Given the description of an element on the screen output the (x, y) to click on. 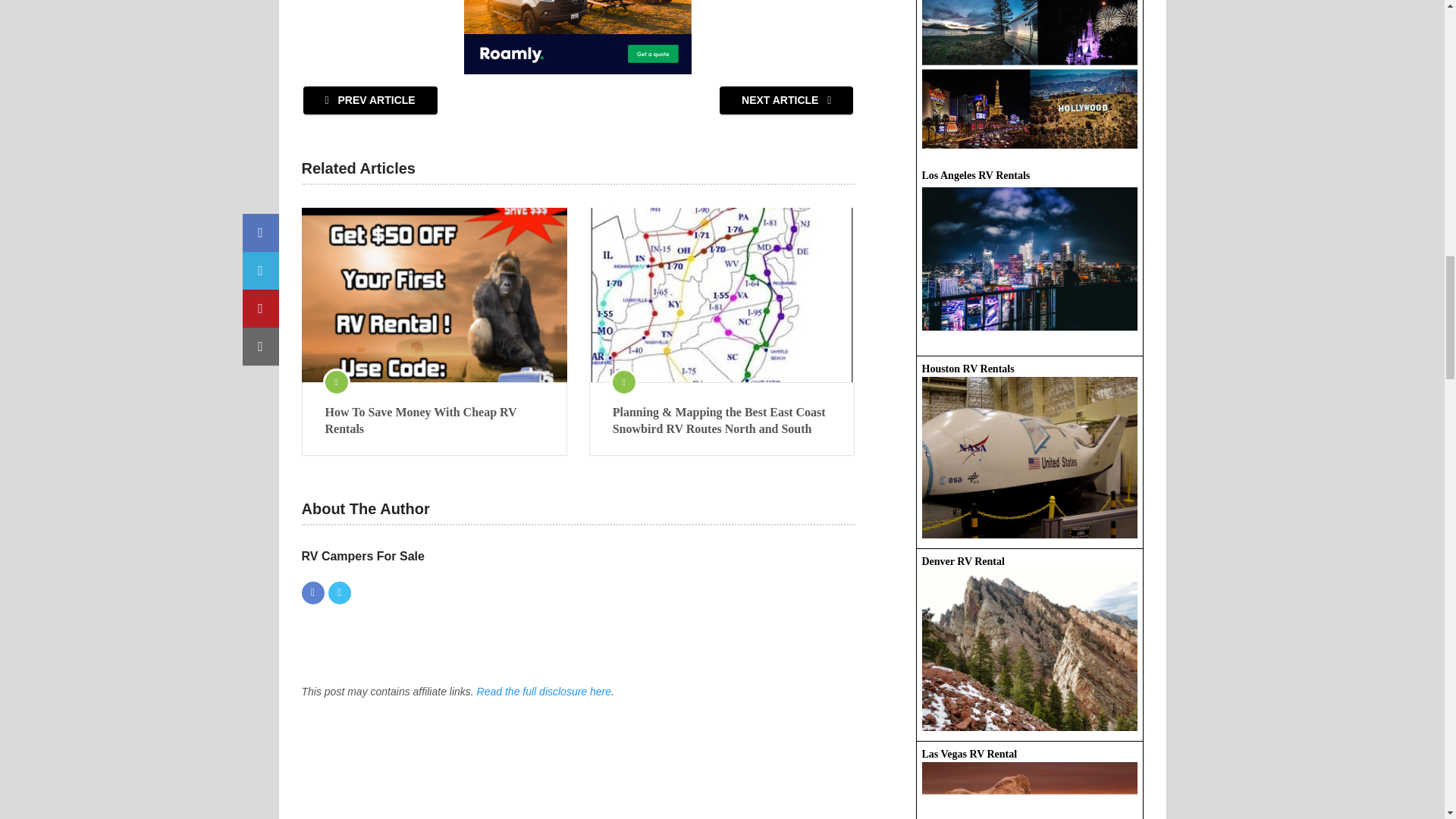
PREV ARTICLE (370, 100)
NEXT ARTICLE (786, 100)
Houston RV Rentals (1029, 258)
How To Save Money With Cheap RV Rentals (433, 421)
How To Save Money With Cheap RV Rentals (433, 421)
How To Save Money With Cheap RV Rentals (434, 295)
